Given the description of an element on the screen output the (x, y) to click on. 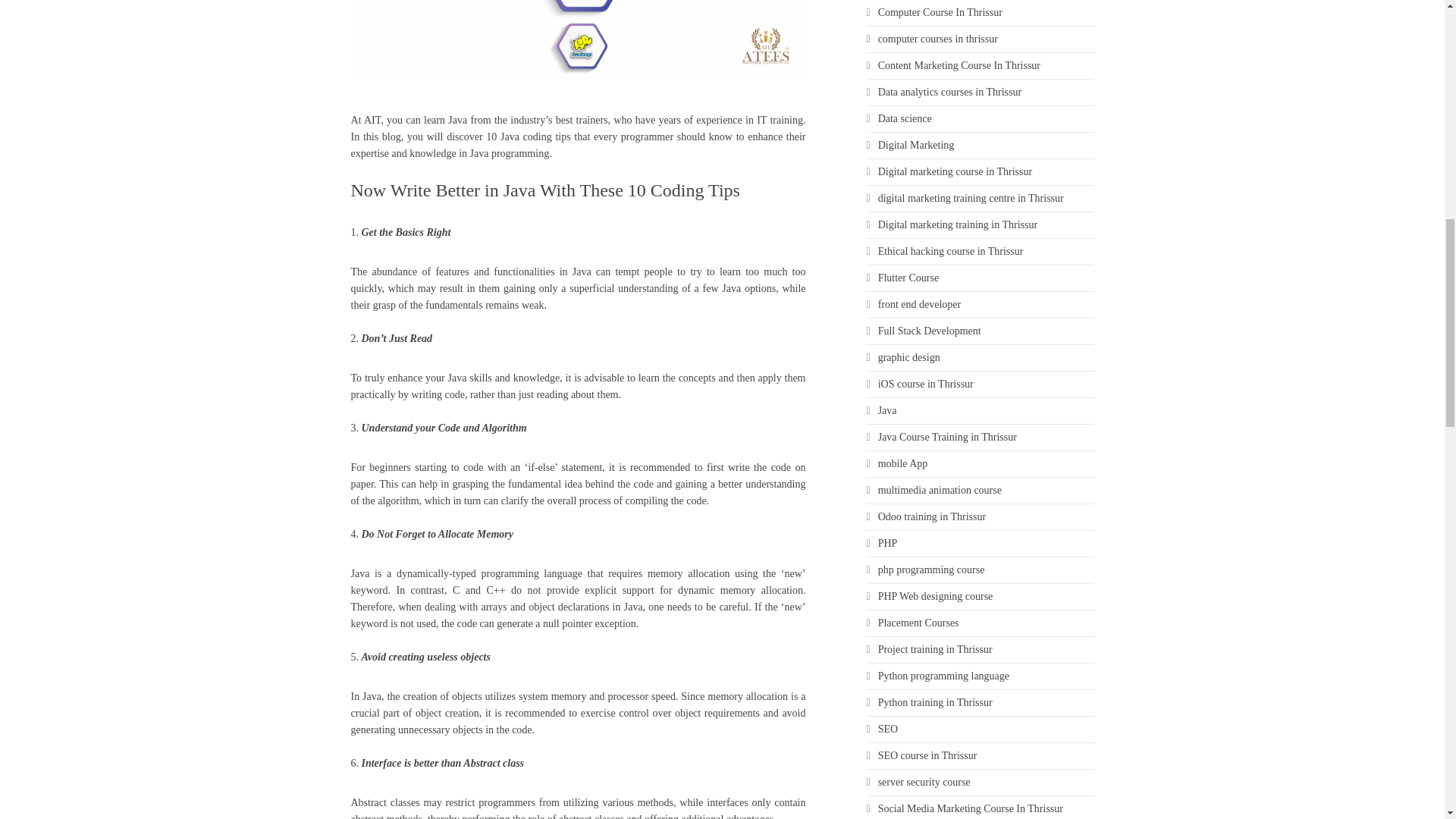
computer courses in thrissur (979, 38)
Computer Course In Thrissur (979, 12)
Digital marketing course in Thrissur (979, 171)
Data science (979, 118)
Content Marketing Course In Thrissur (979, 65)
Data analytics courses in Thrissur (979, 92)
Digital Marketing (979, 145)
